Given the description of an element on the screen output the (x, y) to click on. 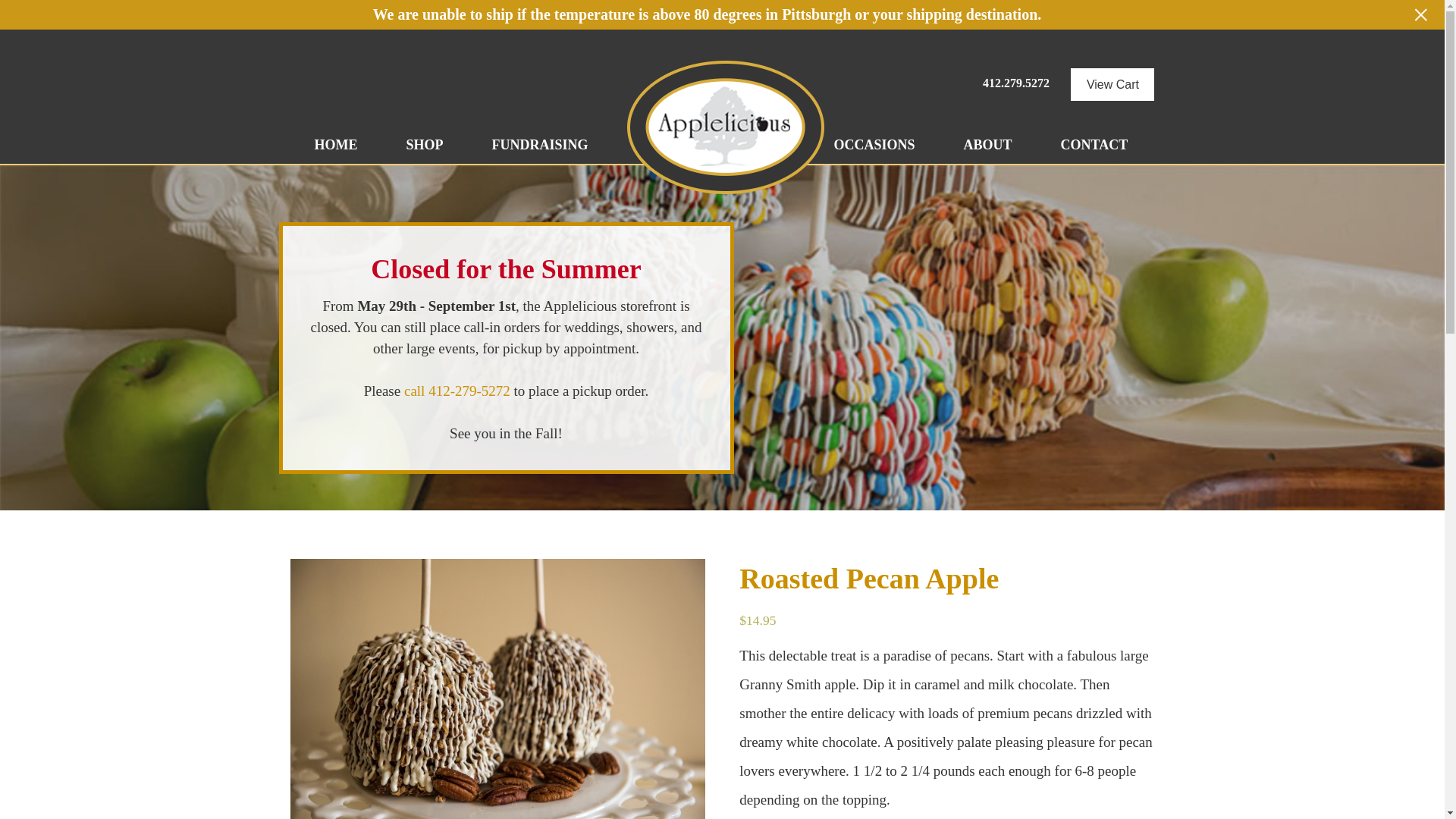
Home (335, 144)
Contact (1094, 144)
call 412-279-5272 (457, 390)
Occasions (874, 144)
SHOP (424, 144)
Gourmet Chocolate Lovers (496, 688)
FUNDRAISING (539, 144)
Shop (424, 144)
View Cart (1112, 83)
Fundraising (539, 144)
